Given the description of an element on the screen output the (x, y) to click on. 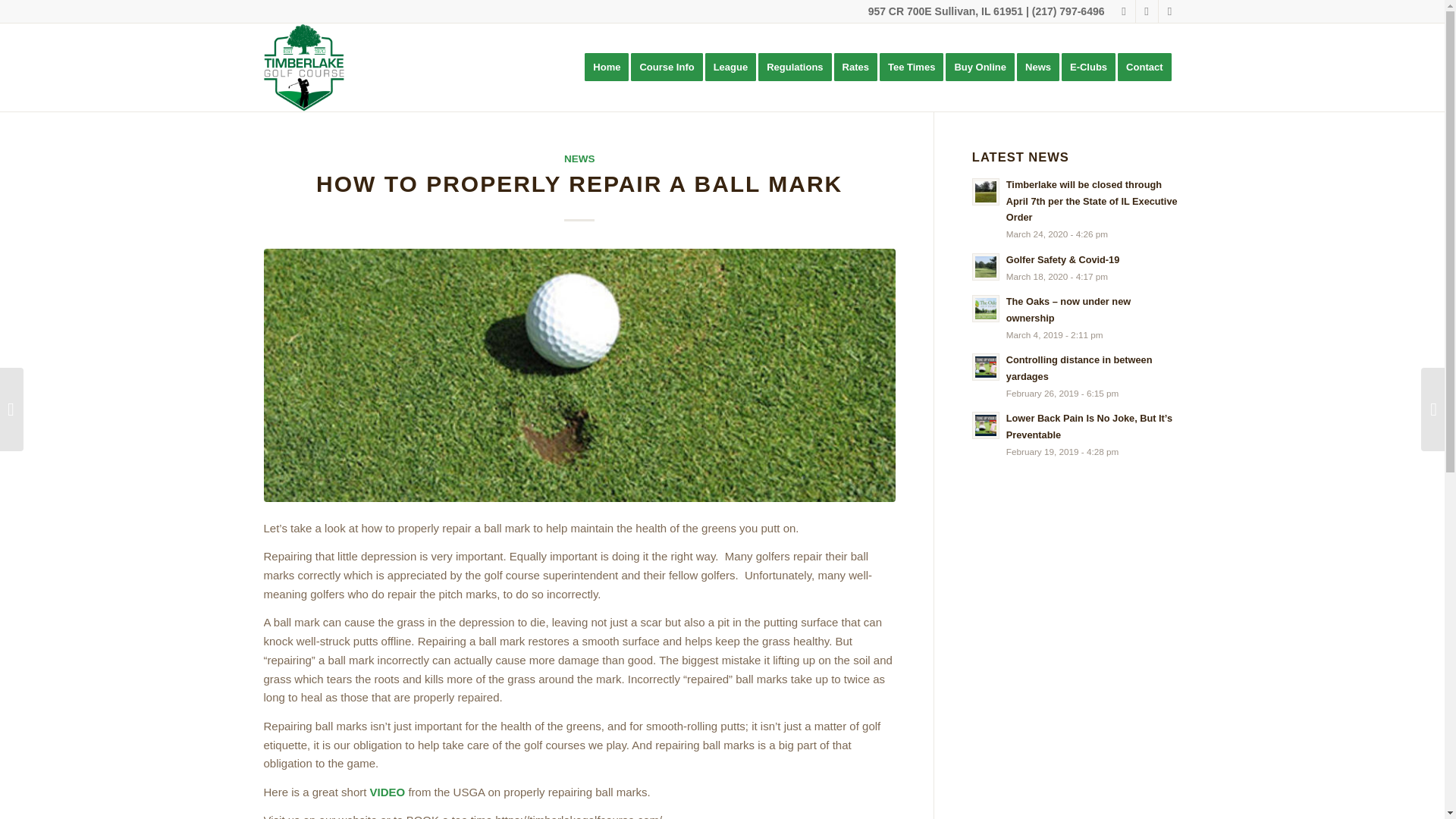
Facebook (1146, 11)
Course Info (670, 67)
Regulations (799, 67)
Rss (1169, 11)
Mod1 (304, 67)
Twitter (1124, 11)
Buy Online (984, 67)
